Given the description of an element on the screen output the (x, y) to click on. 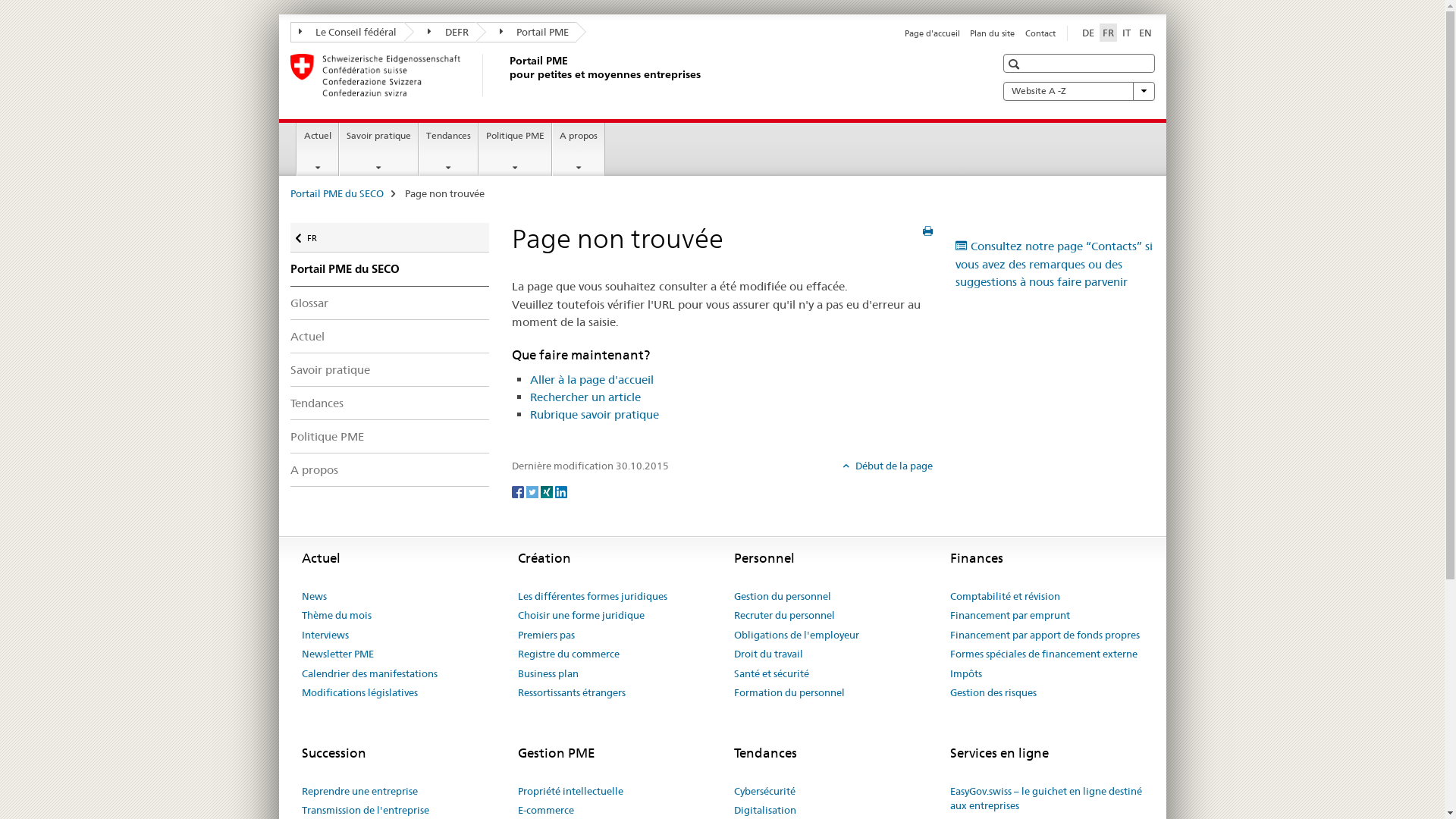
Financement par emprunt Element type: text (1009, 615)
Savoir pratique Element type: text (378, 148)
Obligations de l'employeur Element type: text (796, 635)
Website A -Z Element type: text (1078, 90)
Contact Element type: text (1040, 33)
Newsletter PME Element type: text (337, 654)
Page d'accueil Element type: text (932, 33)
DE Element type: text (1087, 32)
Tendances Element type: text (389, 402)
Choisir une forme juridique Element type: text (580, 615)
Politique PME Element type: text (515, 148)
Formation du personnel Element type: text (789, 692)
Recruter du personnel Element type: text (784, 615)
Financement par apport de fonds propres Element type: text (1044, 635)
Rechercher un article Element type: text (584, 396)
Portail PME Element type: text (526, 31)
Portail PME
pour petites et moyennes entreprises Element type: text (505, 74)
Plan du site Element type: text (991, 33)
Rubrique savoir pratique Element type: text (593, 414)
A propos Element type: text (389, 469)
Tendances Element type: text (448, 148)
Politique PME Element type: text (389, 436)
FR Element type: text (1108, 32)
Reprendre une entreprise Element type: text (359, 791)
Portail PME du SECO Element type: text (389, 268)
Premiers pas Element type: text (545, 635)
Gestion des risques Element type: text (992, 692)
Actuel Element type: text (317, 148)
Savoir pratique Element type: text (389, 369)
Portail PME du SECO Element type: text (335, 193)
A propos Element type: text (578, 148)
Droit du travail Element type: text (768, 654)
Interviews Element type: text (324, 635)
DEFR Element type: text (440, 31)
Registre du commerce Element type: text (567, 654)
Glossar Element type: text (389, 302)
News Element type: text (313, 596)
IT Element type: text (1126, 32)
Calendrier des manifestations Element type: text (369, 674)
EN Element type: text (1144, 32)
Gestion du personnel Element type: text (782, 596)
Imprimer cette page Element type: hover (927, 230)
Actuel Element type: text (389, 336)
Business plan Element type: text (547, 674)
